Given the description of an element on the screen output the (x, y) to click on. 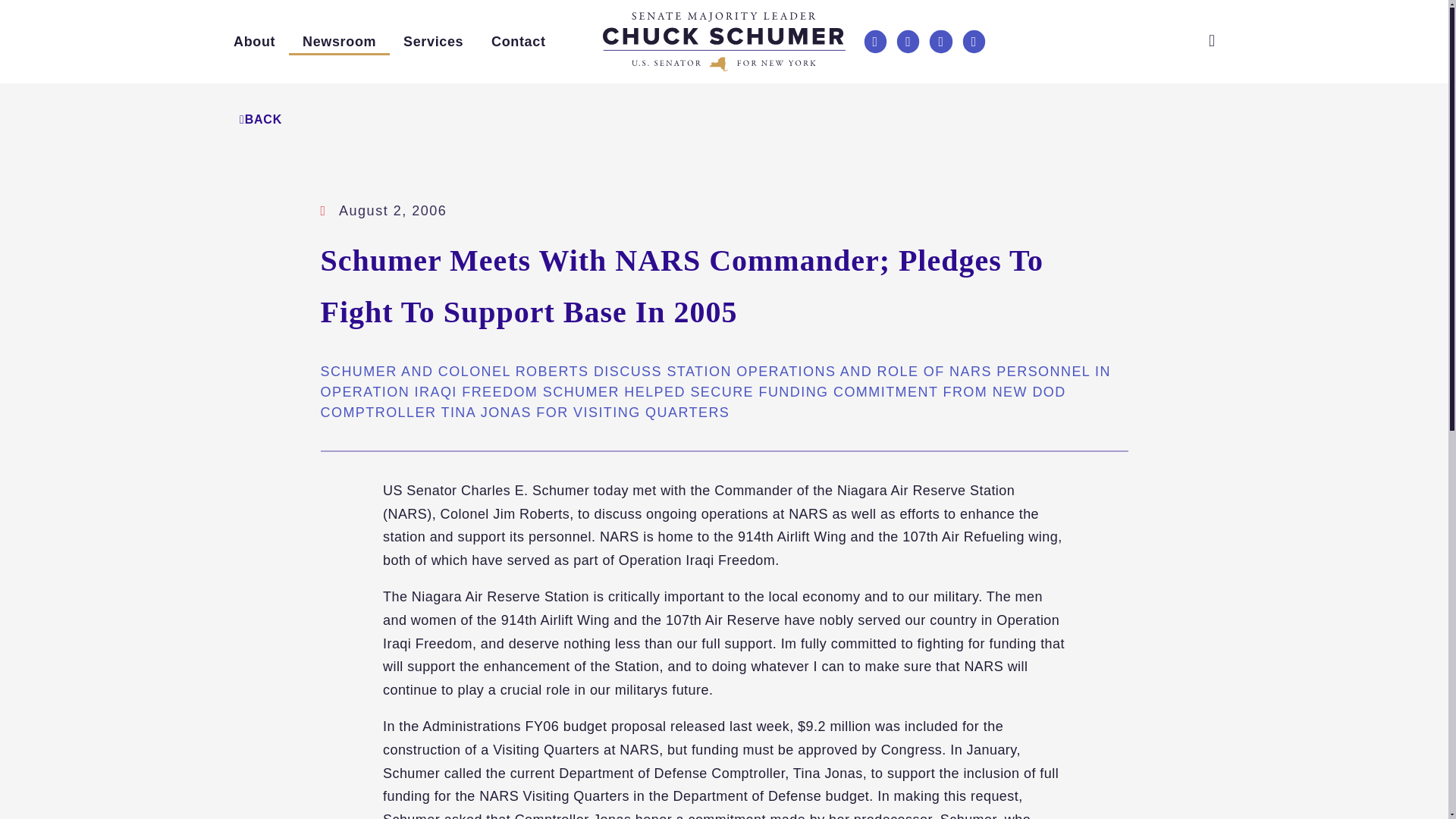
Contact (518, 41)
Biography (332, 70)
BACK (260, 119)
Congressionally Directed Spending (503, 81)
Help With a Federal Agency (503, 70)
Newsroom (339, 41)
Senator Schumer Instagram (940, 40)
Senator Schumer Youtube (973, 40)
Services (433, 41)
Senator Schumer Facebook (875, 40)
Senator Schumer Twitter (907, 40)
Leave a Comment (590, 70)
About (253, 41)
Skip to content (26, 26)
